Given the description of an element on the screen output the (x, y) to click on. 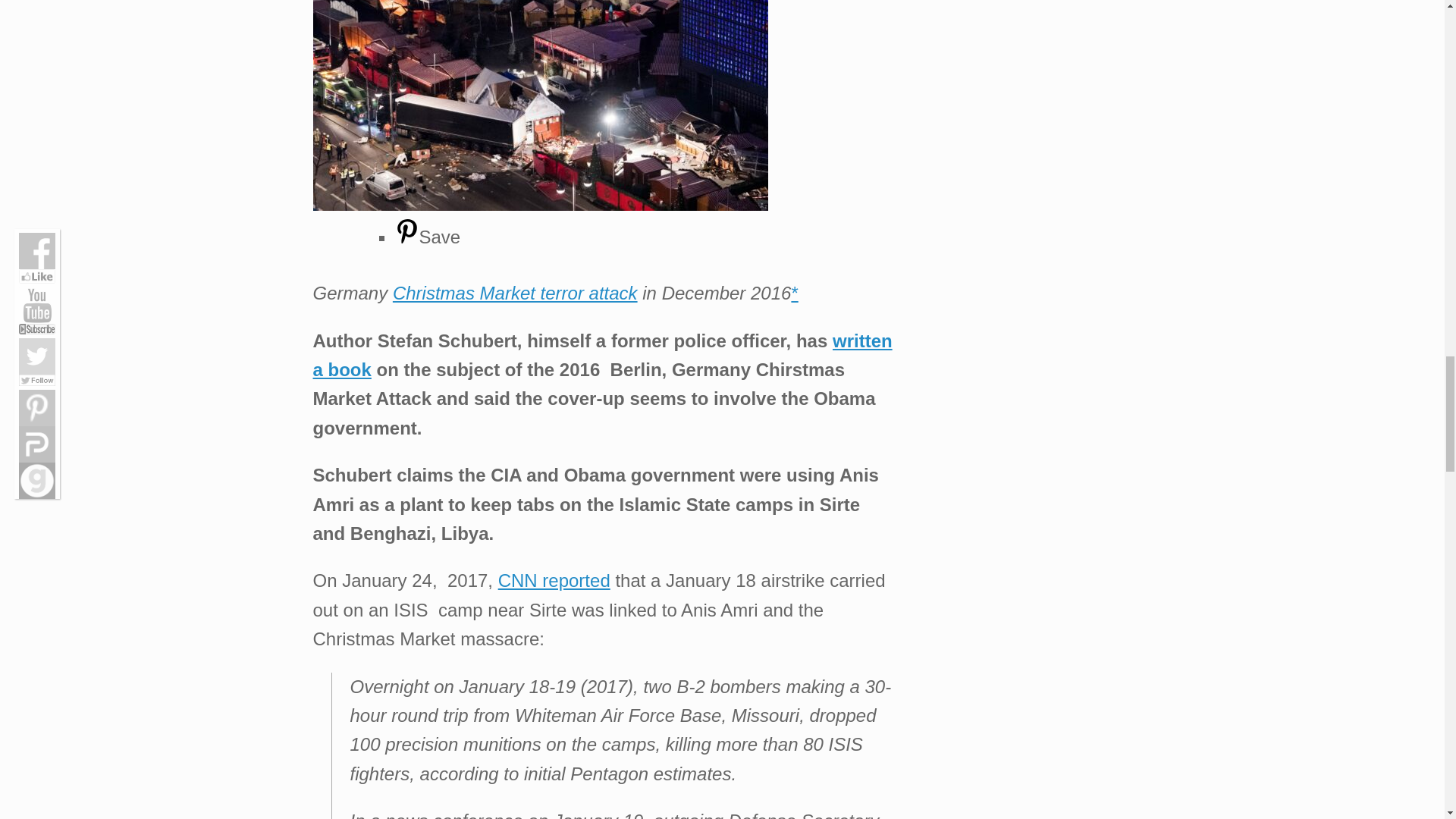
CNN reported (553, 580)
Christmas Market terror attack (515, 292)
written a book (602, 355)
